Given the description of an element on the screen output the (x, y) to click on. 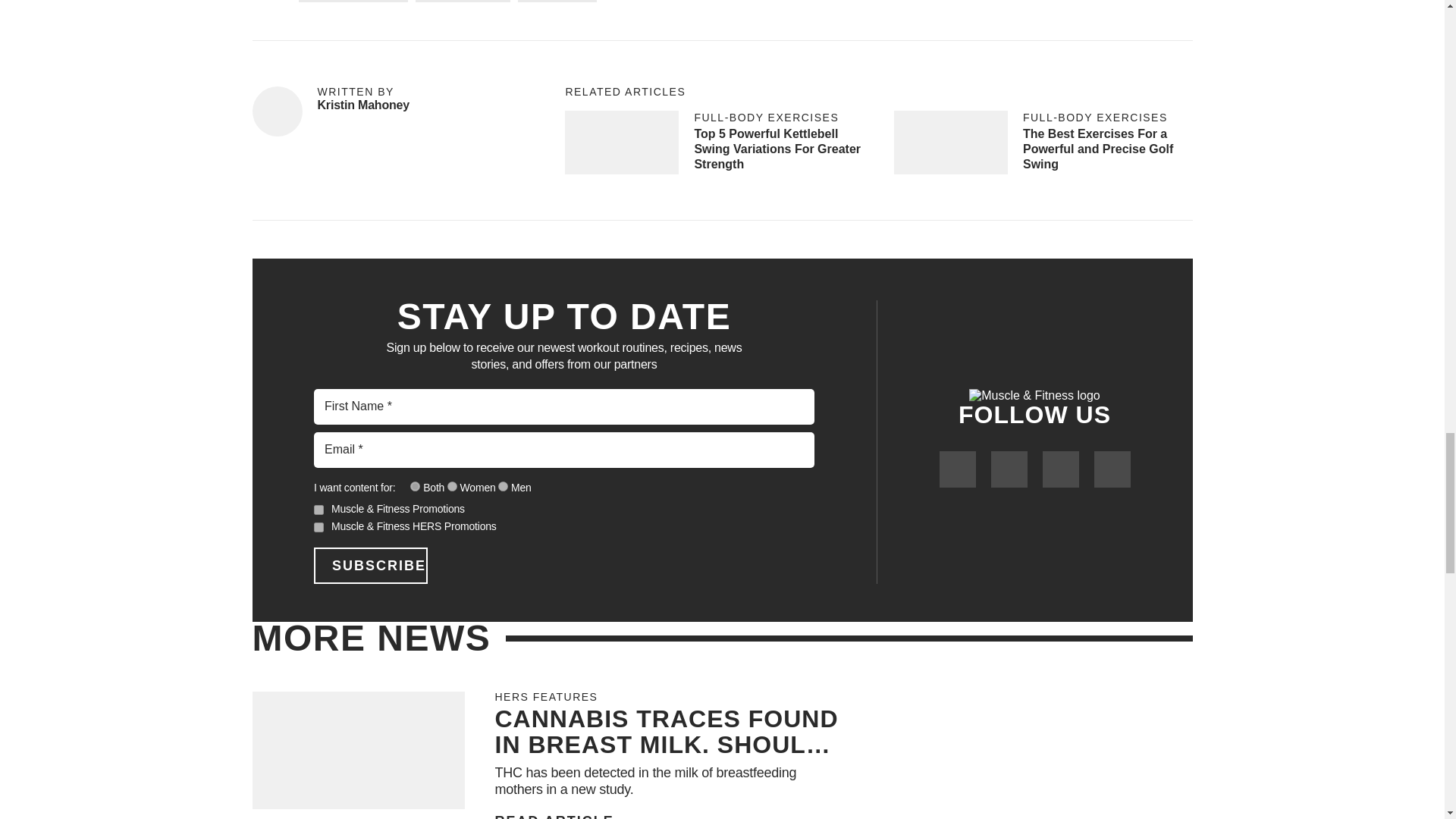
Muscle and Fitness on Twitter (1008, 469)
735 (415, 486)
737 (451, 486)
739 (502, 486)
Muscle and Fitness on Facebook (957, 469)
